Given the description of an element on the screen output the (x, y) to click on. 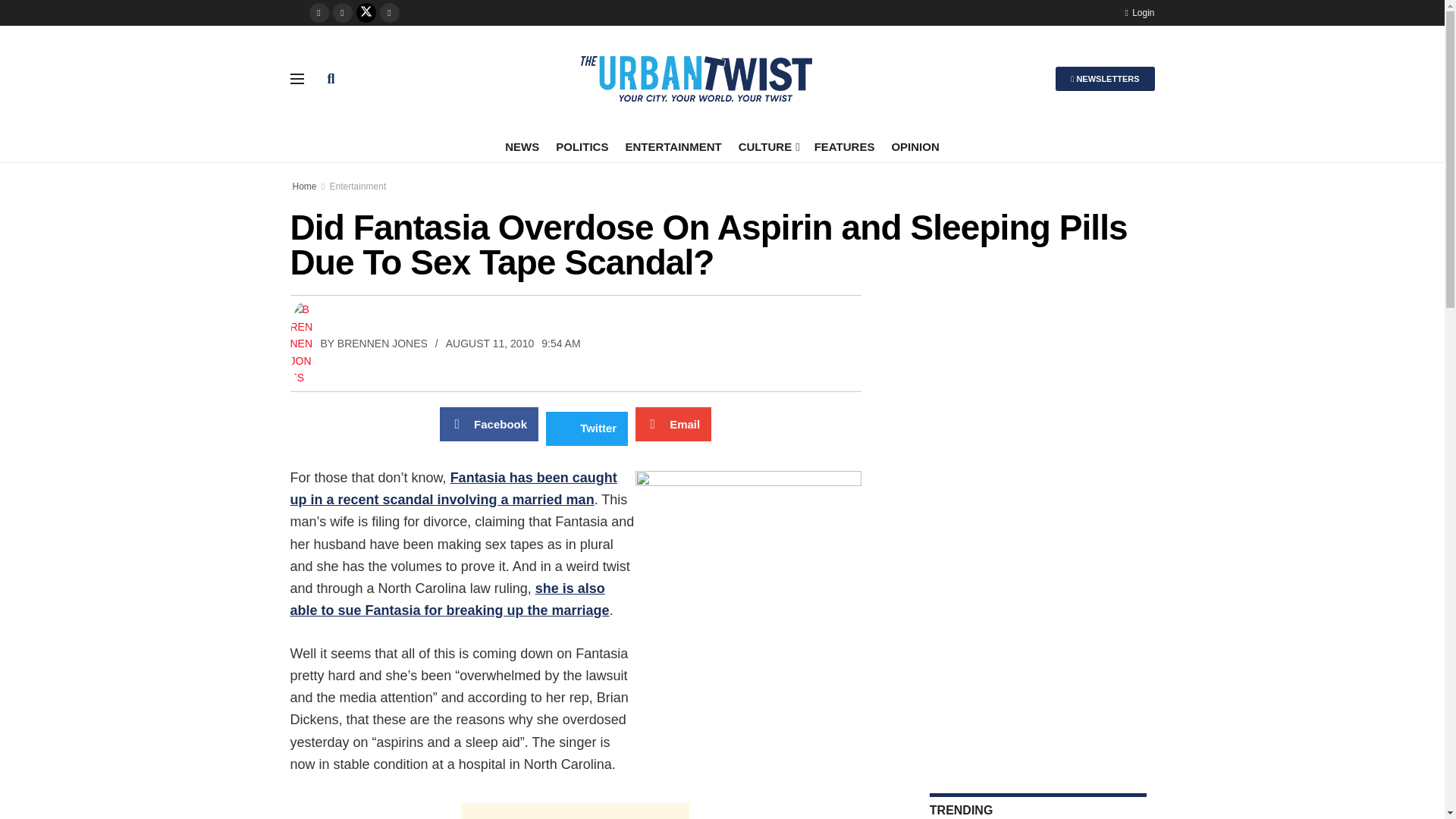
FEATURES (844, 146)
OPINION (915, 146)
POLITICS (582, 146)
Entertainment (358, 185)
CULTURE (767, 146)
Login (1139, 12)
NEWS (521, 146)
NEWSLETTERS (1104, 78)
Home (304, 185)
